Given the description of an element on the screen output the (x, y) to click on. 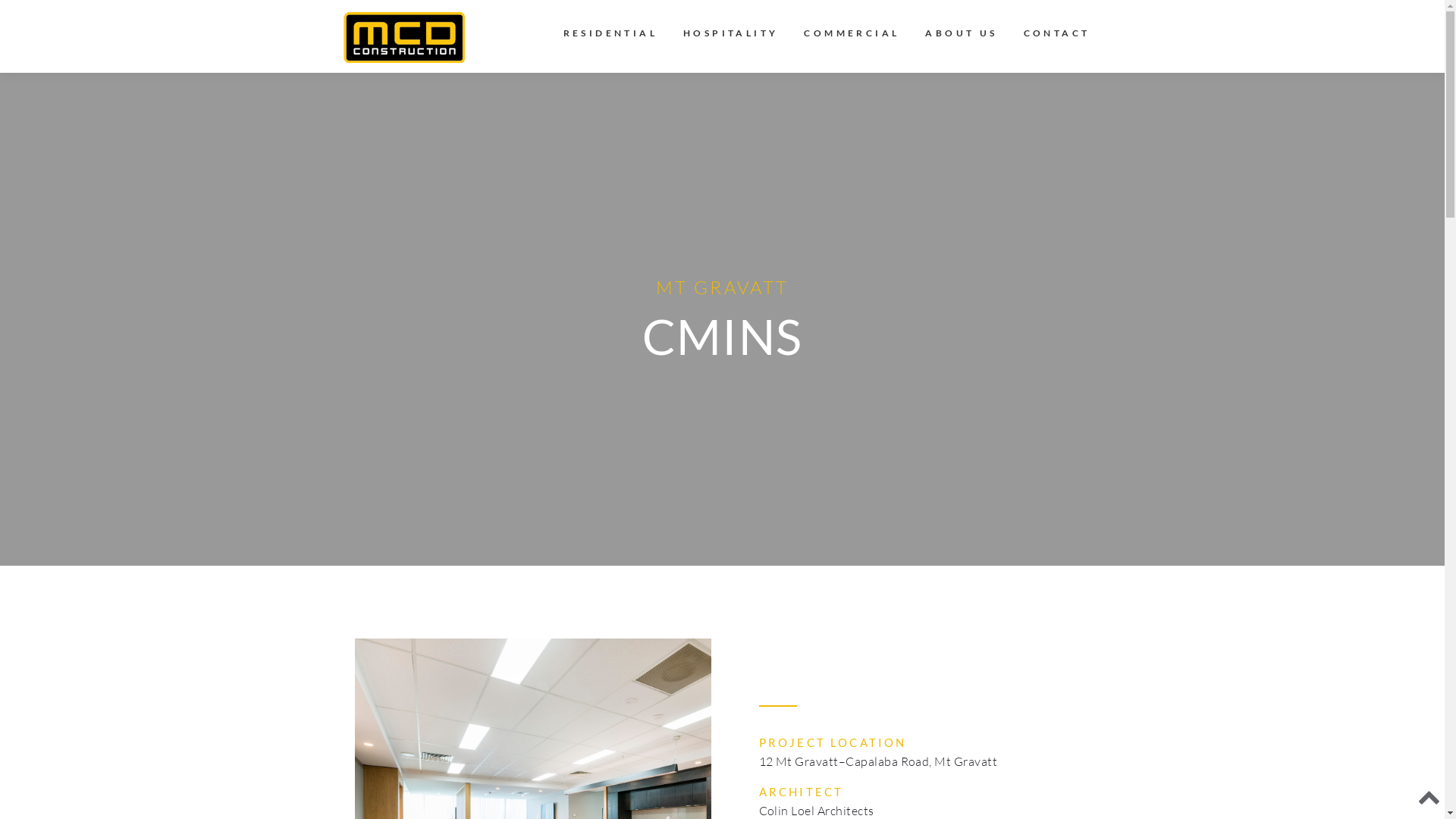
ABOUT US Element type: text (961, 36)
COMMERCIAL Element type: text (851, 36)
Back To Top Element type: hover (1429, 799)
CONTACT Element type: text (1050, 36)
HOSPITALITY Element type: text (730, 36)
RESIDENTIAL Element type: text (610, 36)
